Given the description of an element on the screen output the (x, y) to click on. 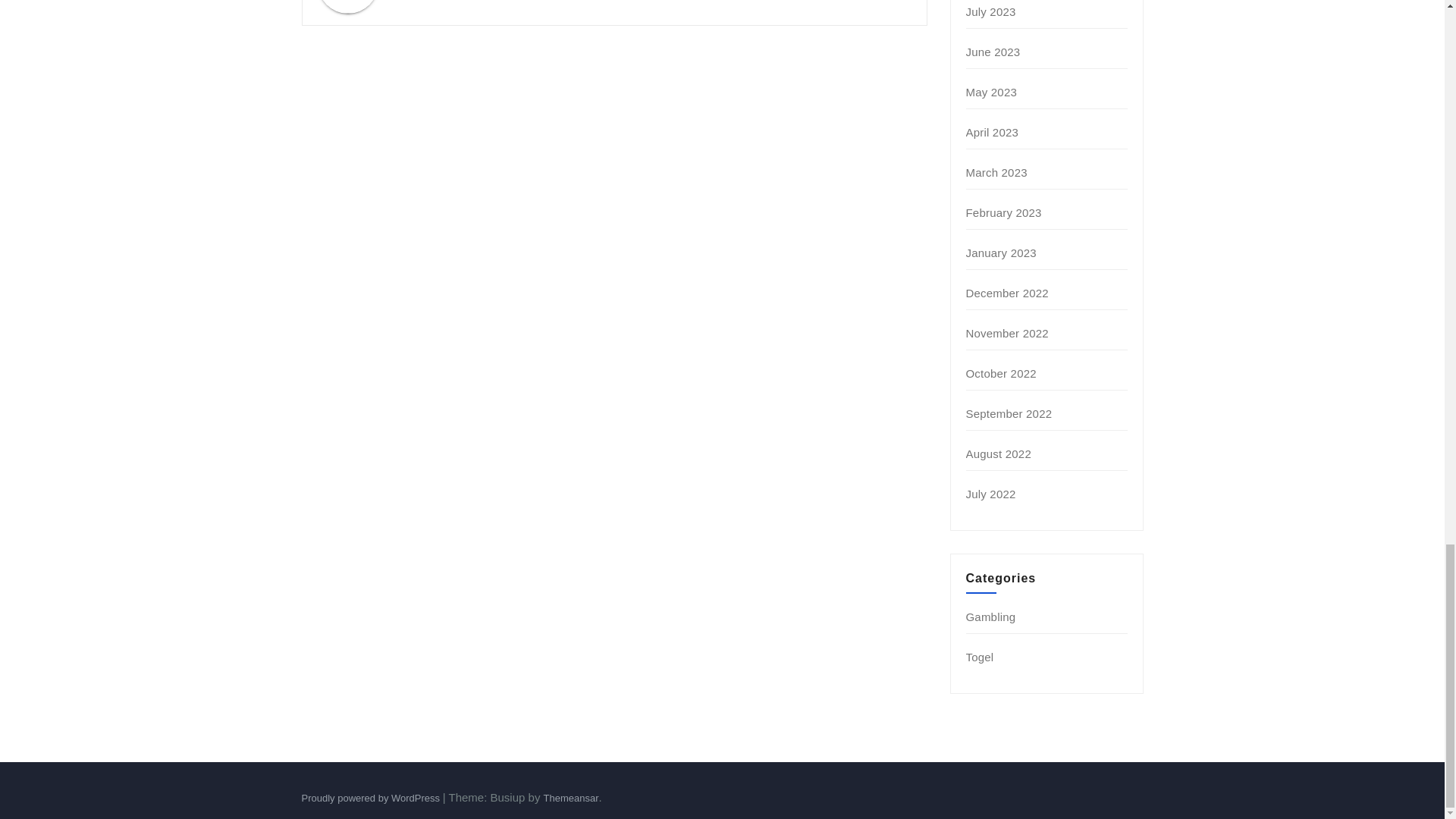
July 2023 (991, 11)
March 2023 (996, 172)
February 2023 (1004, 212)
May 2023 (991, 91)
April 2023 (992, 132)
June 2023 (993, 51)
